Given the description of an element on the screen output the (x, y) to click on. 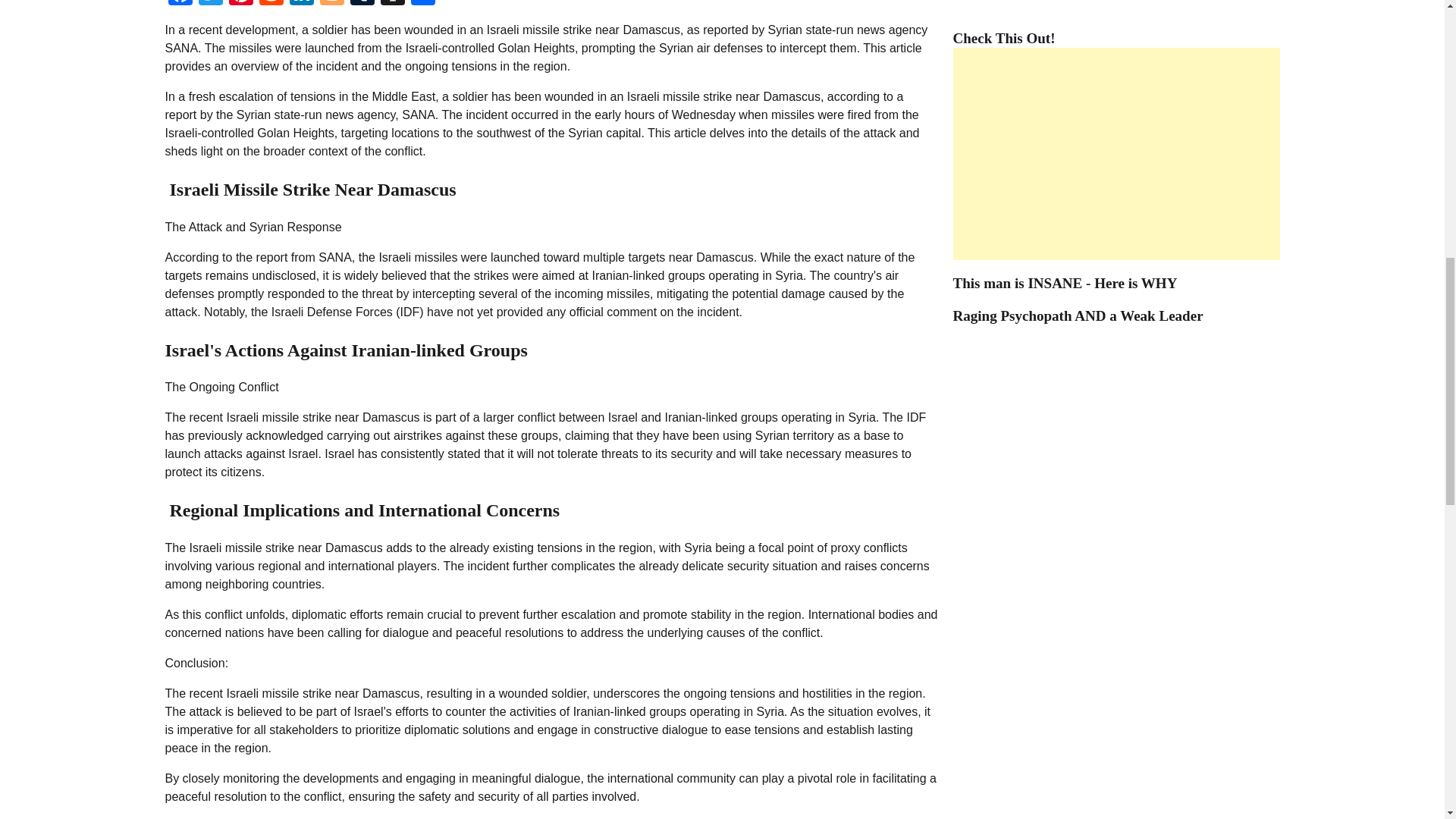
Reddit (271, 4)
Tumblr (362, 4)
Pinterest (240, 4)
Facebook (180, 4)
Instapaper (392, 4)
Twitter (210, 4)
Tumblr (362, 4)
Blogger (332, 4)
Instapaper (392, 4)
Facebook (180, 4)
Share (422, 4)
Reddit (271, 4)
LinkedIn (301, 4)
LinkedIn (301, 4)
Pinterest (240, 4)
